Given the description of an element on the screen output the (x, y) to click on. 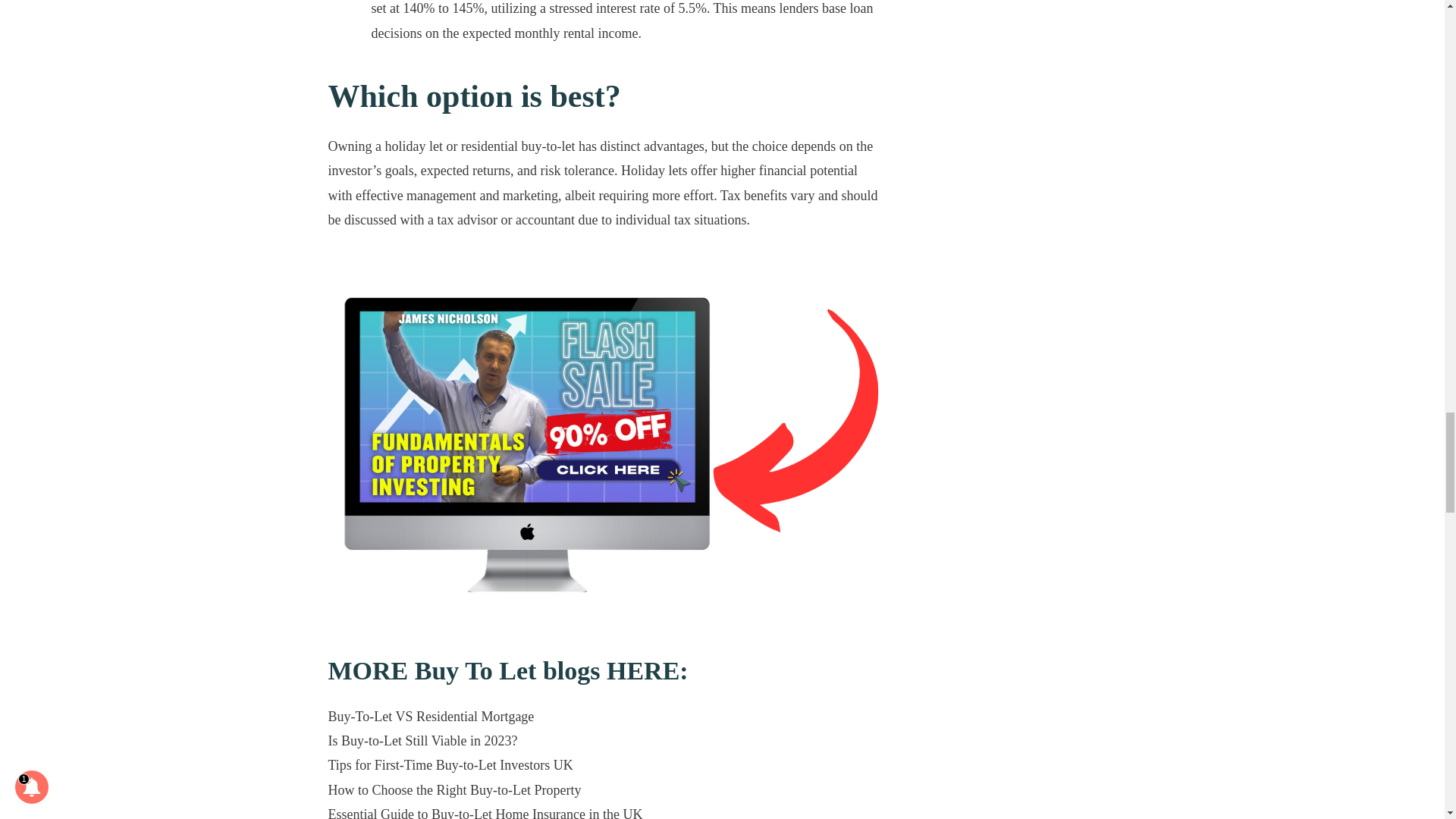
Buy-To-Let VS Residential Mortgage (430, 716)
Is Buy-to-Let Still Viable in 2023? (421, 740)
Is Buy-to-Let Still Viable in 2023? (421, 740)
Buy-To-Let VS Residential Mortgage (430, 716)
Tips for First-Time Buy-to-Let Investors UK (449, 765)
Tips for First-Time Buy-to-Let Investors UK (449, 765)
Essential Guide to Buy-to-Let Home Insurance in the UK (484, 812)
How to Choose the Right Buy-to-Let Property (453, 789)
How to Choose the Right Buy-to-Let Property (453, 789)
Essential Guide to Buy-to-Let Home Insurance in the UK (484, 812)
